Given the description of an element on the screen output the (x, y) to click on. 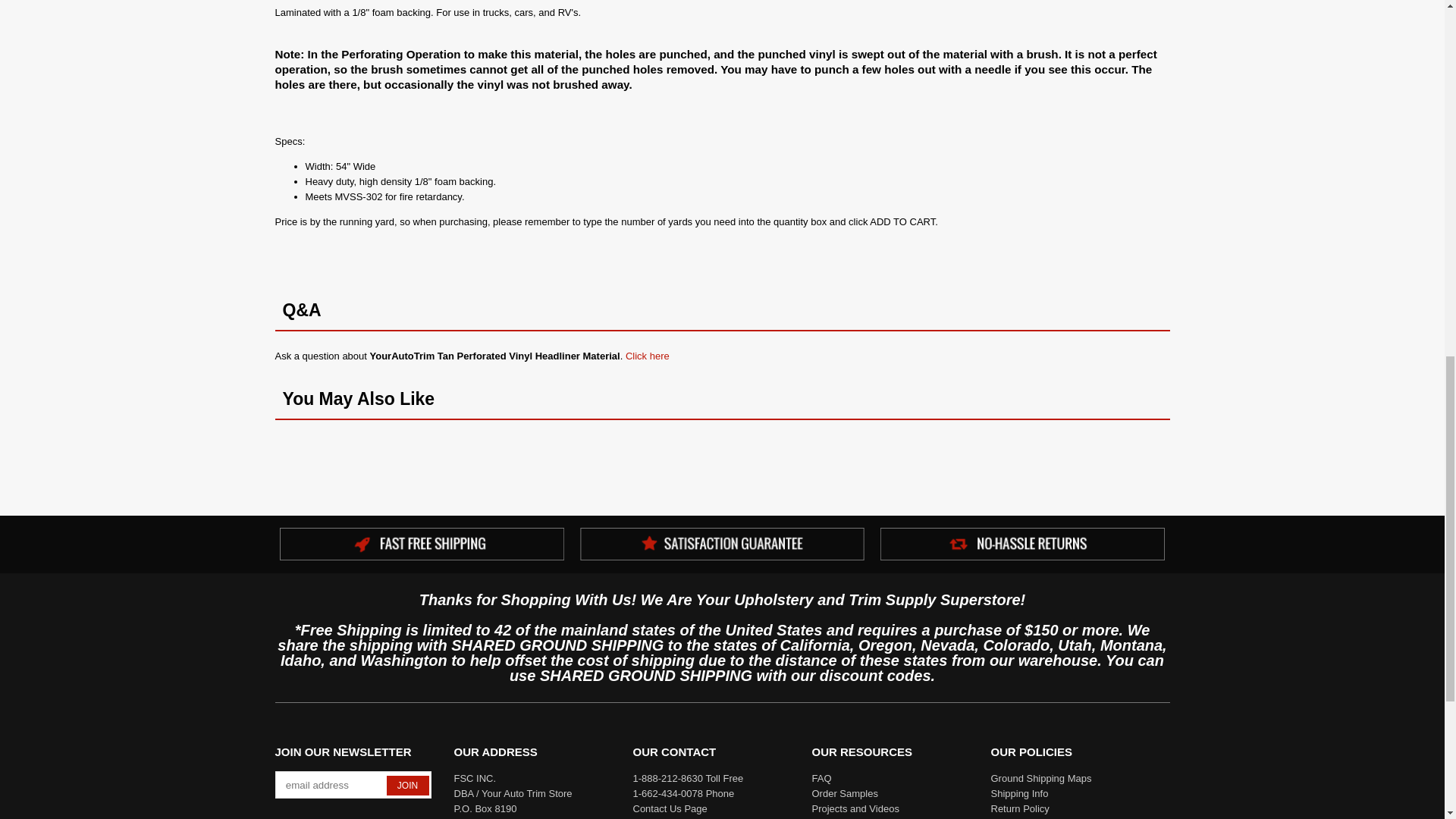
Join (407, 784)
